Given the description of an element on the screen output the (x, y) to click on. 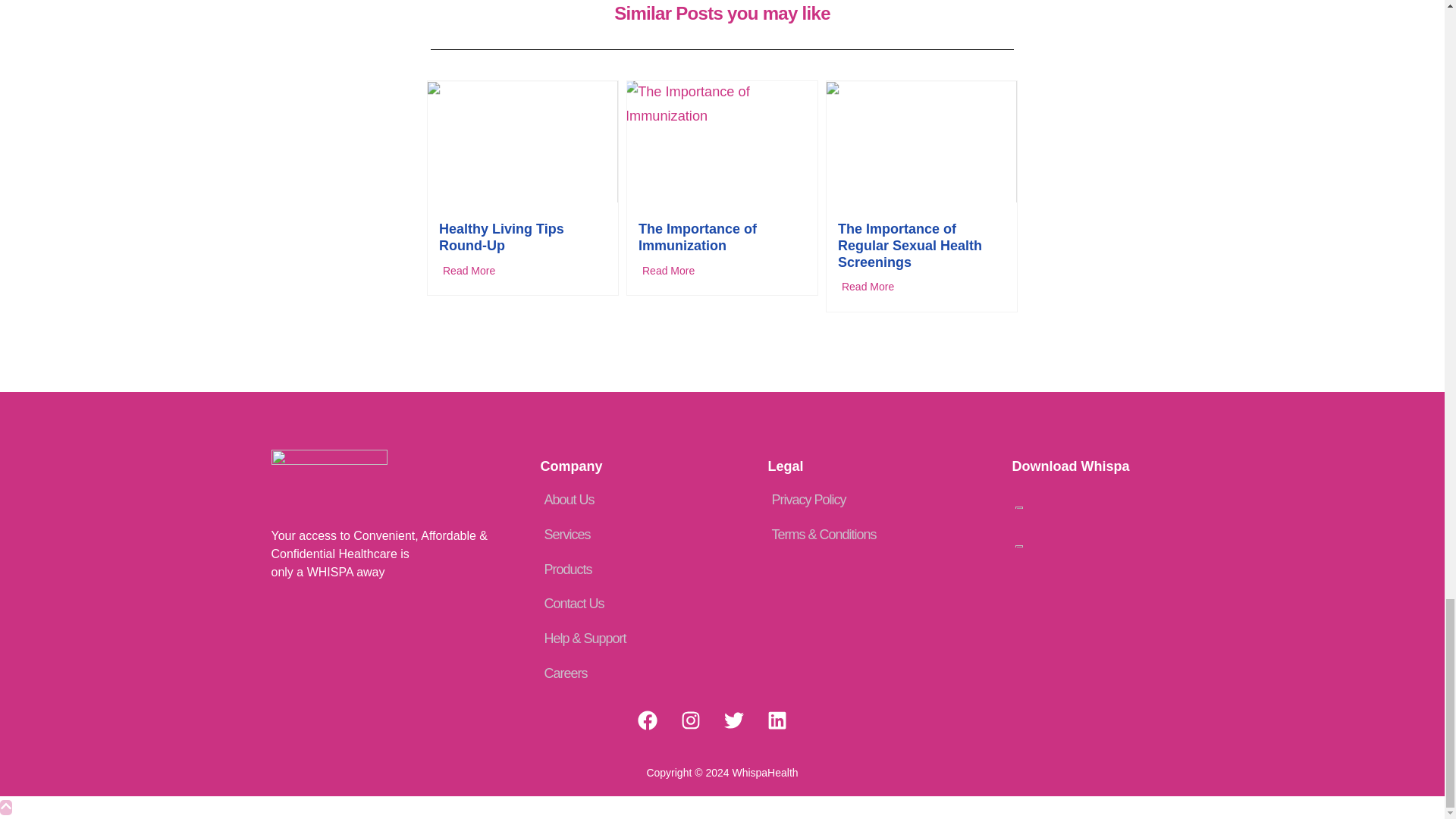
Read More (922, 287)
Careers (639, 673)
The Importance of Regular Sexual Health Screenings (909, 245)
Products (639, 570)
Healthy Living Tips Round-Up (501, 237)
Services (639, 534)
Healthy Living Tips Round-Up (501, 237)
Contact Us (639, 604)
Read More (722, 271)
The Importance of Regular Sexual Health Screenings (909, 245)
